Given the description of an element on the screen output the (x, y) to click on. 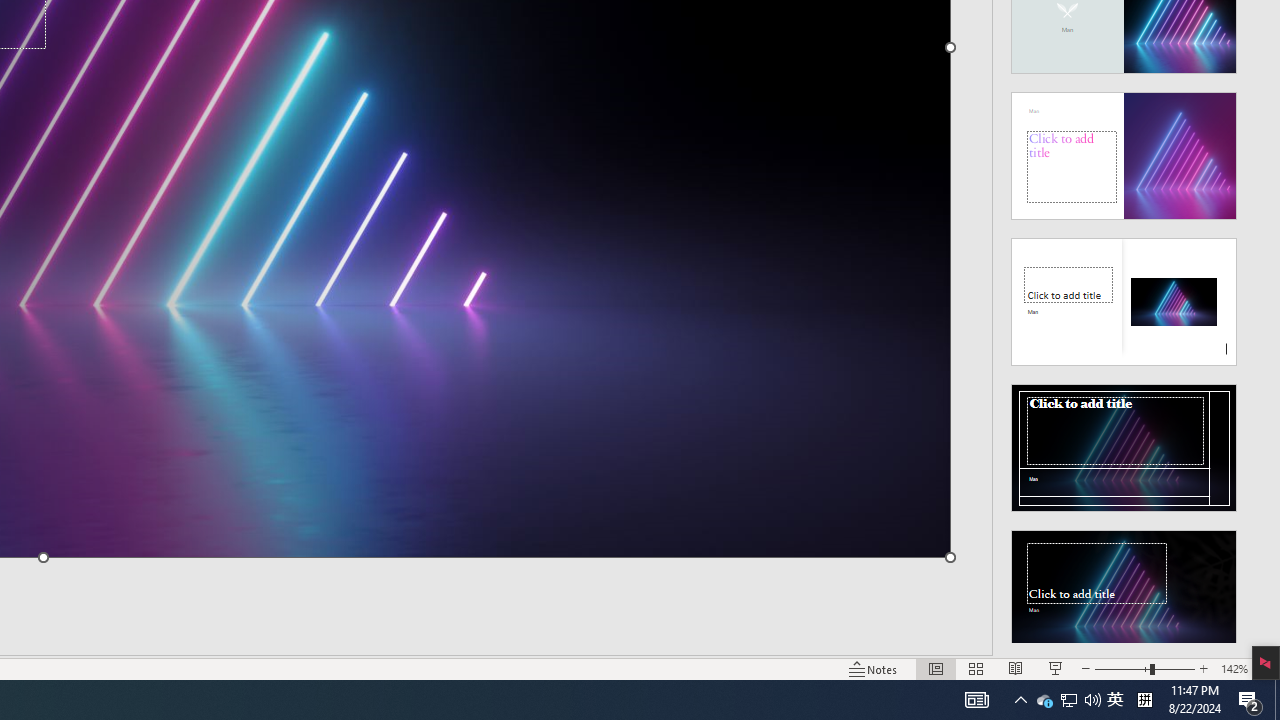
Slide Show (1055, 668)
Notification Chevron (1020, 699)
Q2790: 100% (1092, 699)
AutomationID: 4105 (976, 699)
Class: NetUIImage (1124, 593)
Zoom Out (1044, 699)
Zoom (1121, 668)
Normal (1069, 699)
User Promoted Notification Area (1144, 668)
Slide Sorter (936, 668)
Zoom to Fit  (1068, 699)
